Given the description of an element on the screen output the (x, y) to click on. 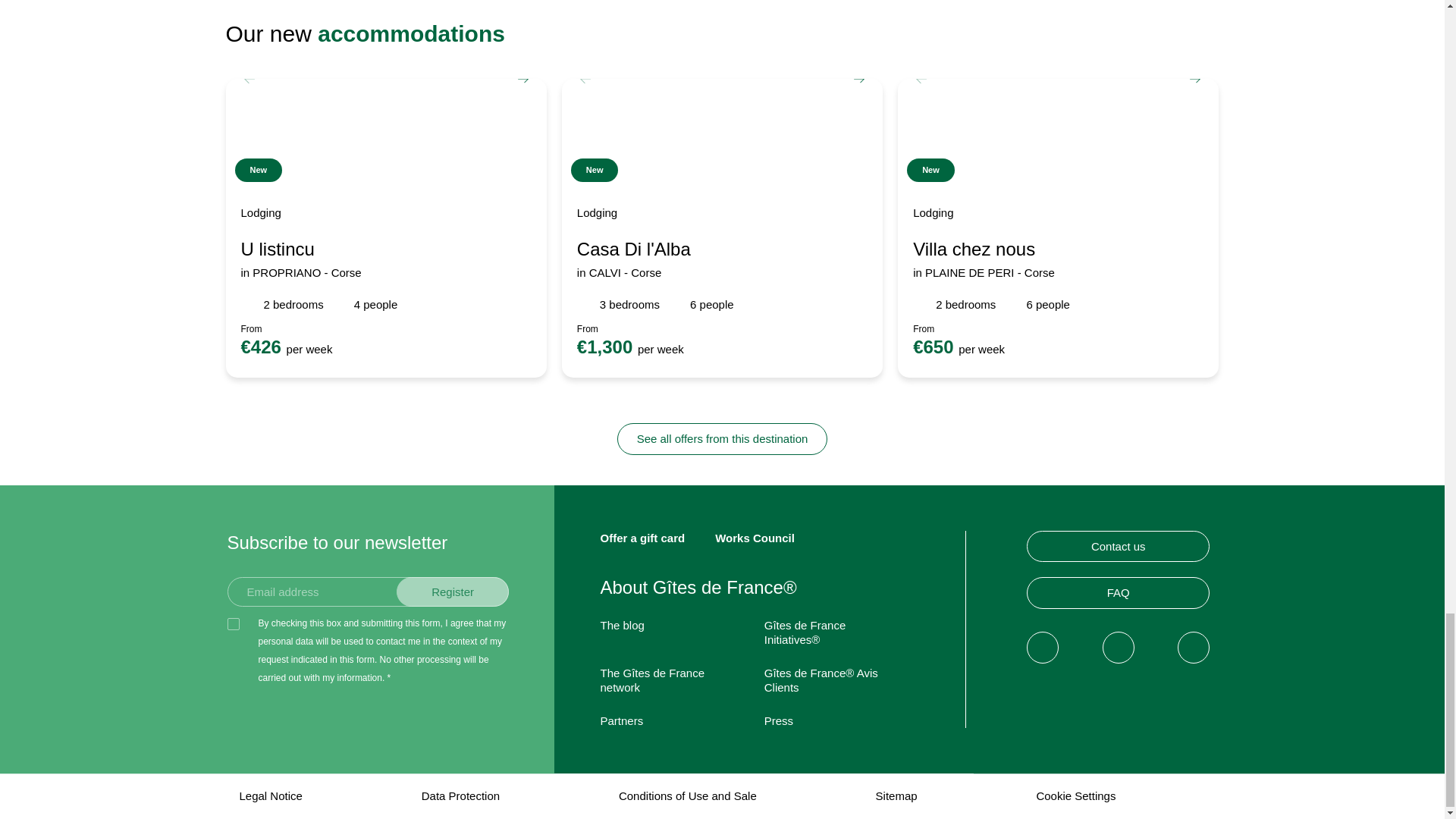
Register (452, 591)
The Works Council website (754, 538)
1 (233, 623)
Le blog (621, 625)
